Given the description of an element on the screen output the (x, y) to click on. 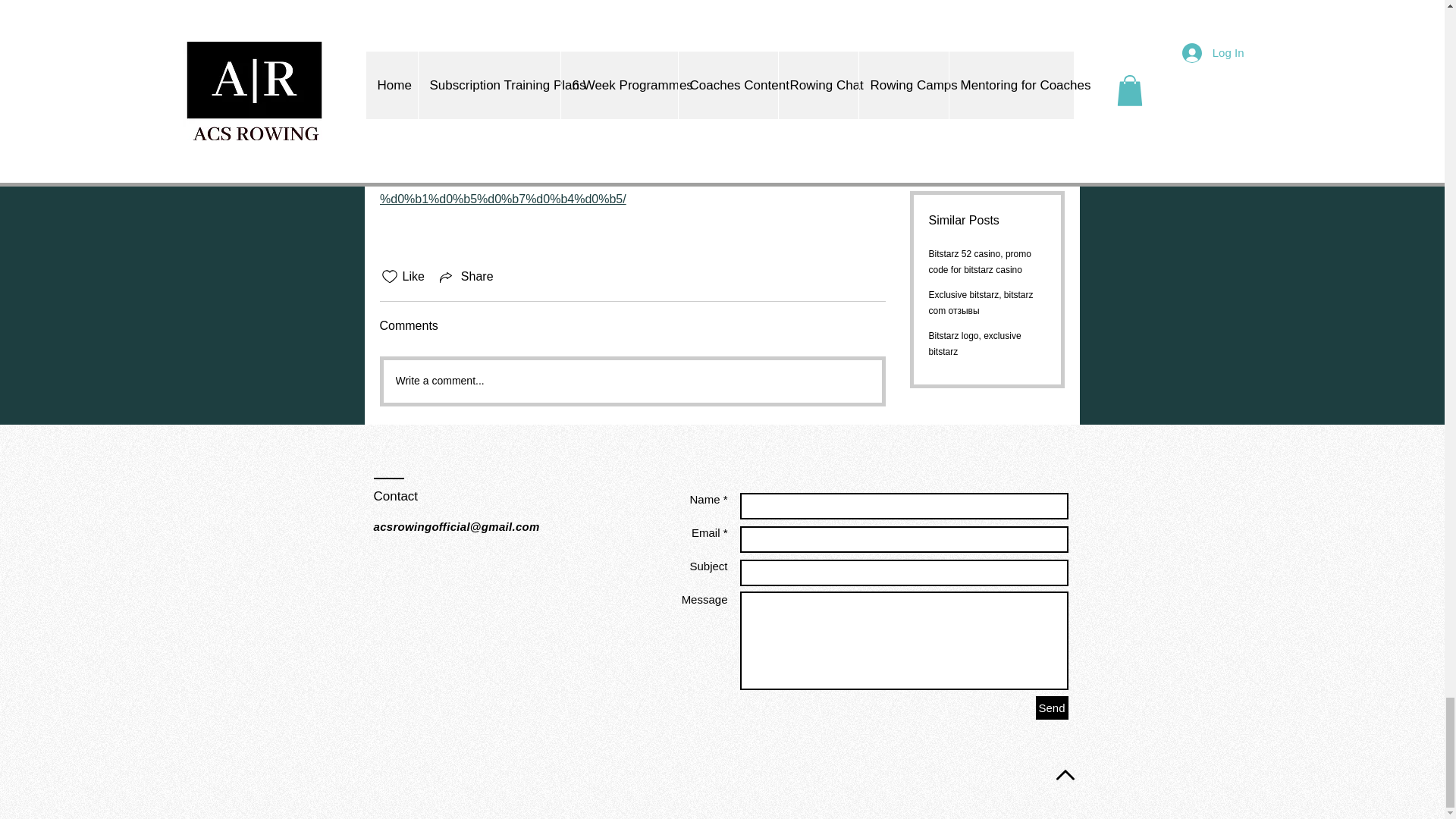
Send (1051, 707)
Share (464, 276)
Write a comment... (633, 381)
